Given the description of an element on the screen output the (x, y) to click on. 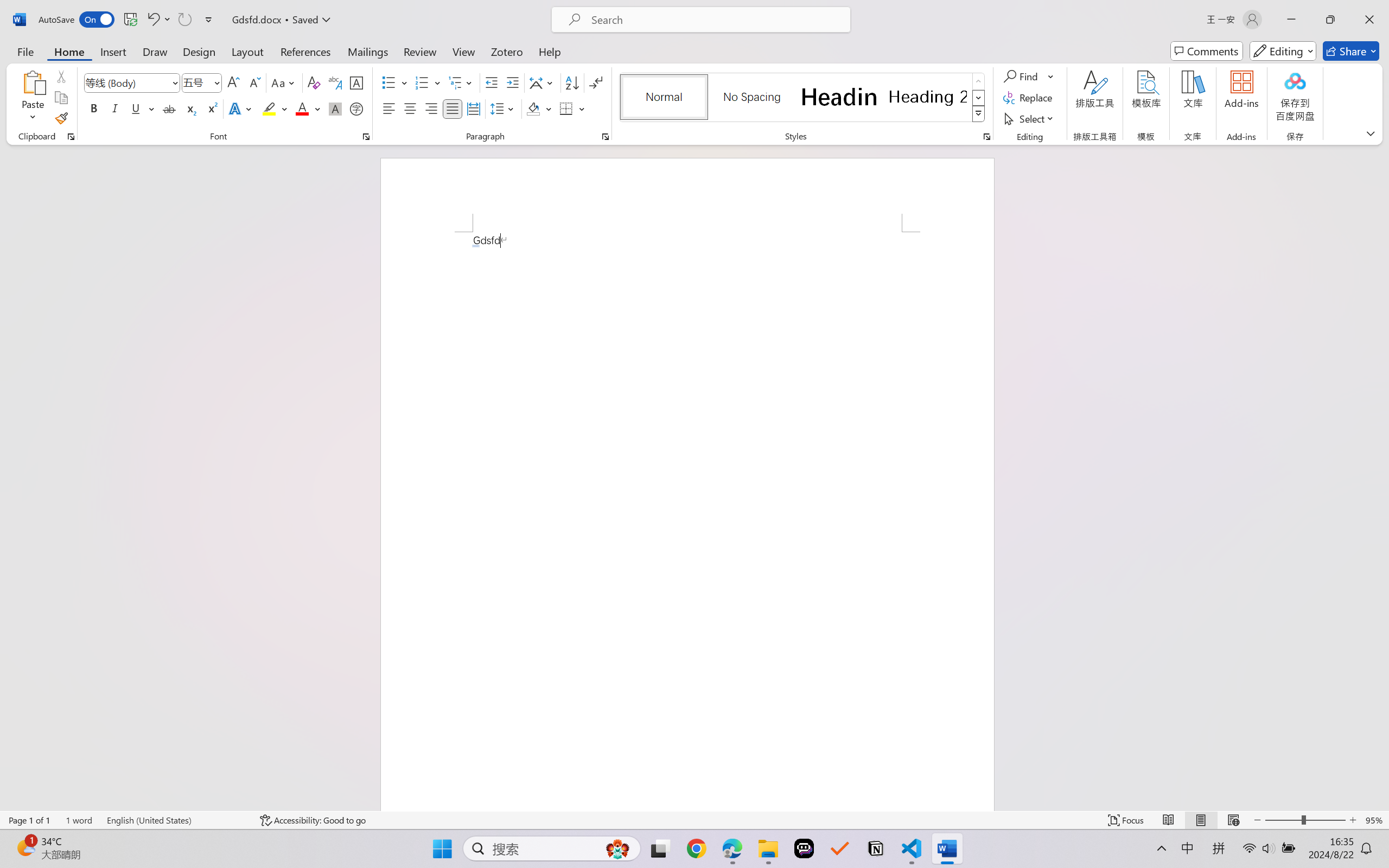
Text Highlight Color (274, 108)
Show/Hide Editing Marks (595, 82)
Line and Paragraph Spacing (503, 108)
Strikethrough (169, 108)
Row Down (978, 97)
Undo AutoCorrect (152, 19)
Justify (452, 108)
